Given the description of an element on the screen output the (x, y) to click on. 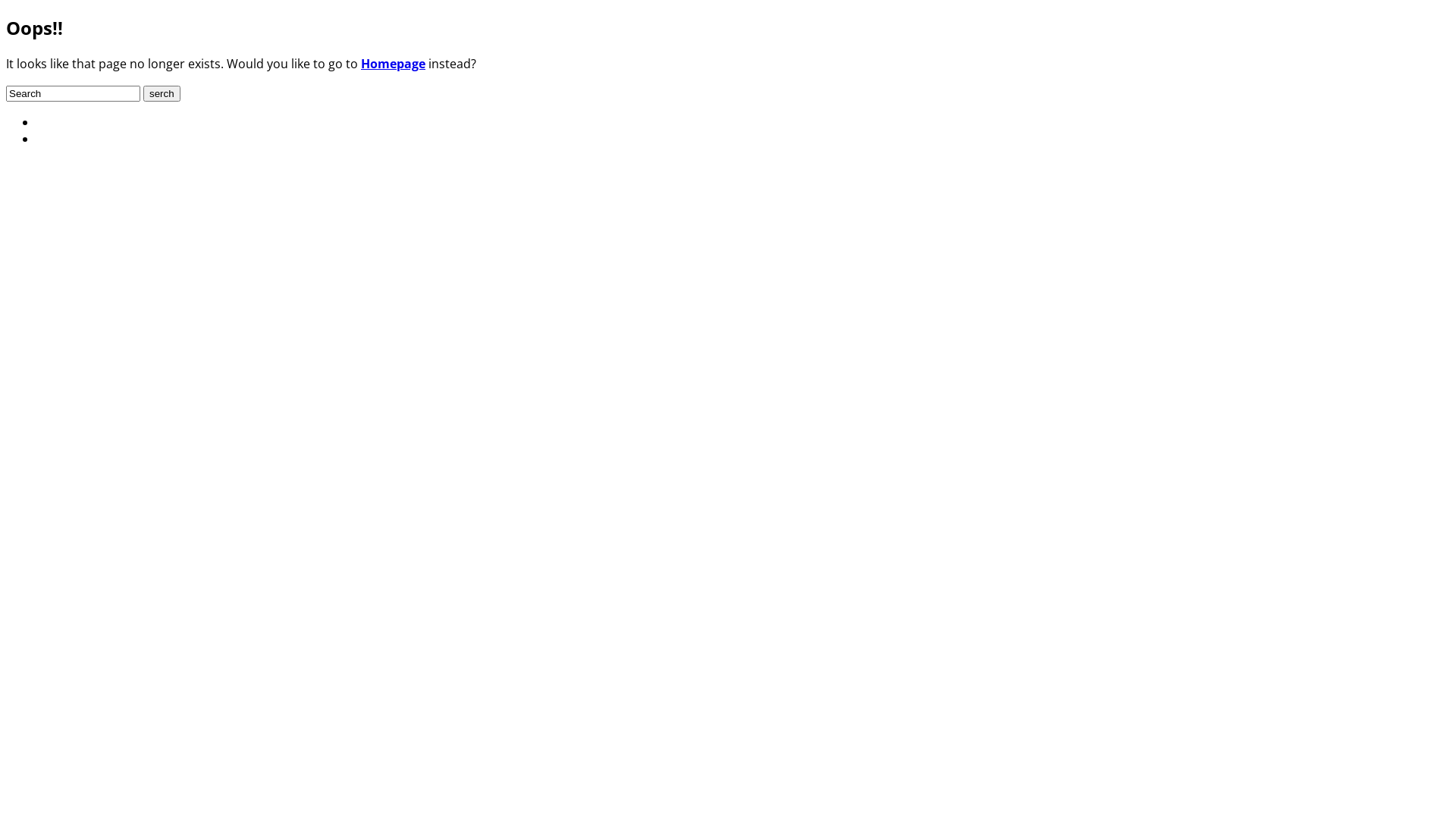
Homepage Element type: text (392, 63)
serch Element type: text (161, 93)
